Given the description of an element on the screen output the (x, y) to click on. 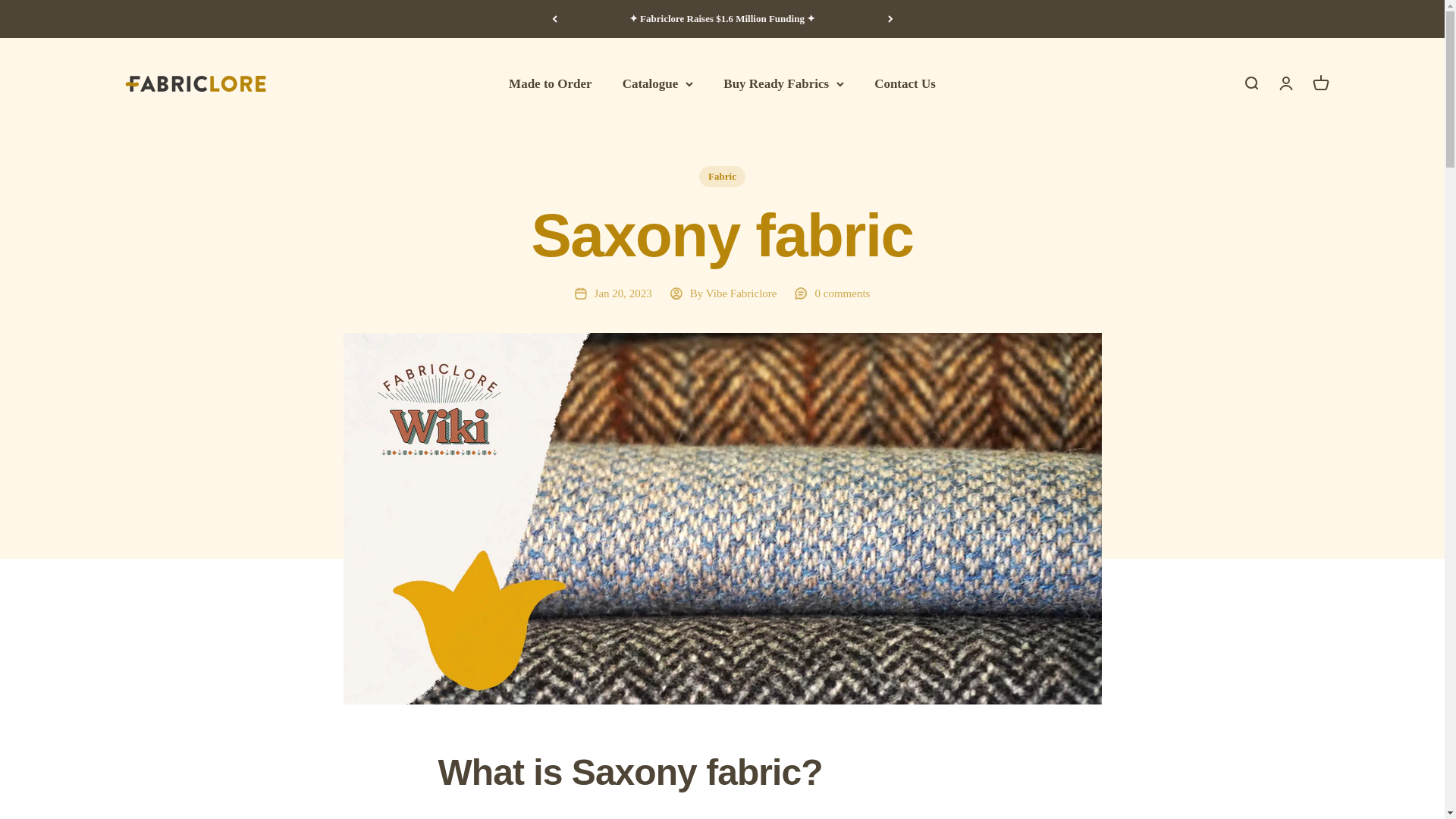
Made to Order (550, 83)
